Given the description of an element on the screen output the (x, y) to click on. 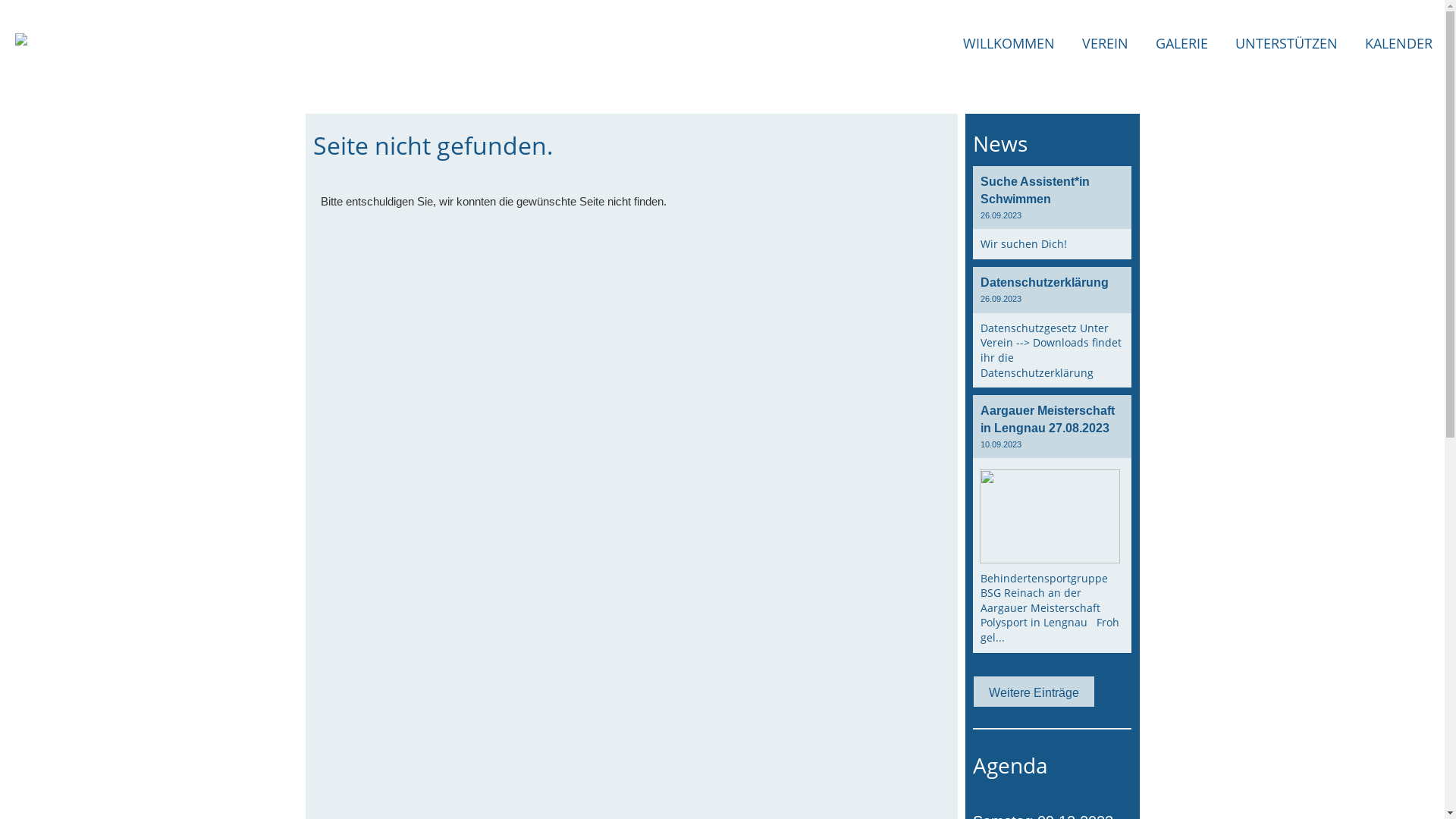
KALENDER Element type: text (1398, 43)
VEREIN Element type: text (1105, 43)
GALERIE Element type: text (1181, 43)
Suche Assistent*in Schwimmen
26.09.2023
Wir suchen Dich! Element type: text (1051, 212)
WILLKOMMEN Element type: text (1008, 43)
